Given the description of an element on the screen output the (x, y) to click on. 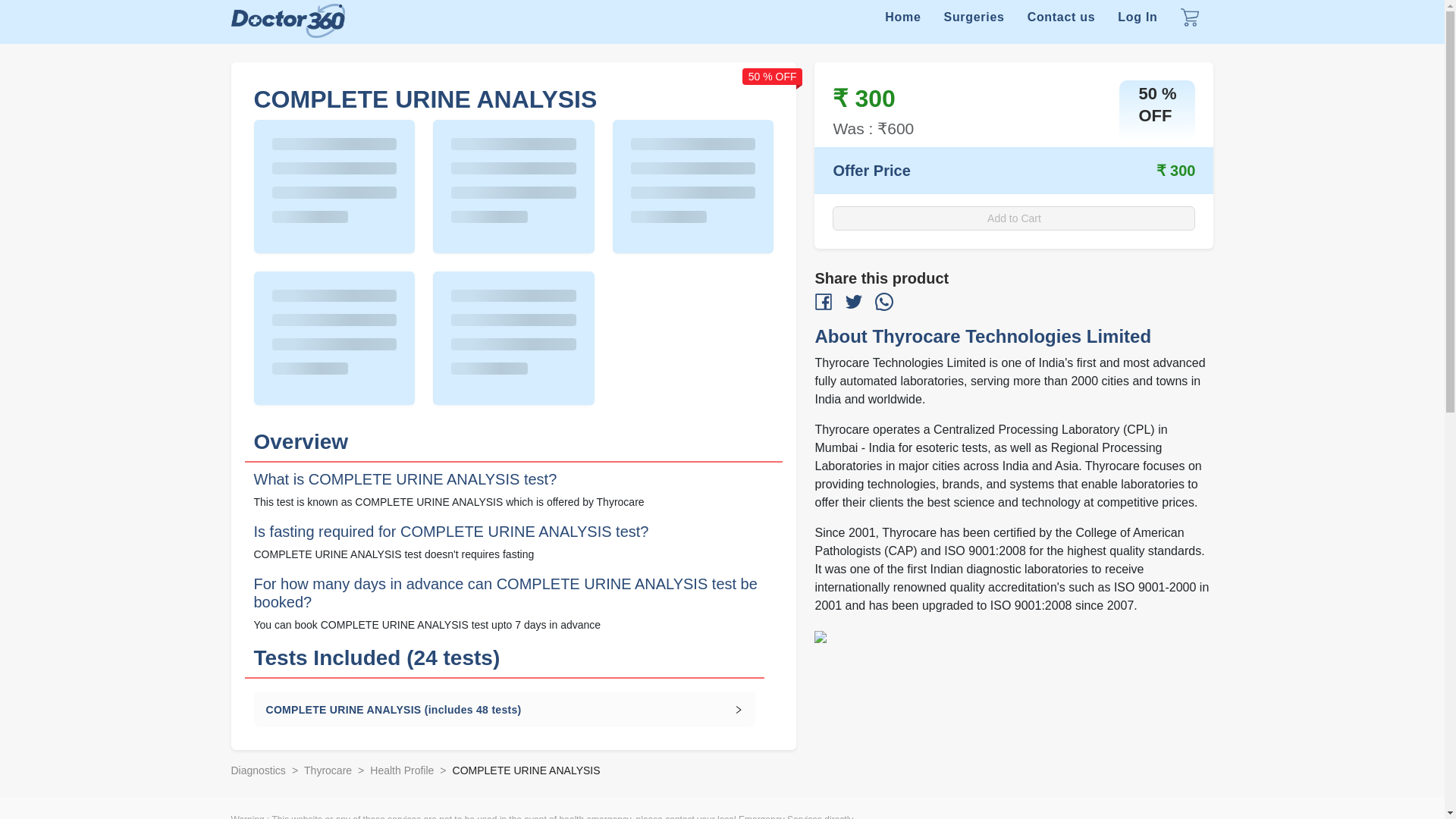
Add to Cart (1013, 218)
Contact us (1061, 19)
Diagnostics (257, 770)
Log In (1136, 19)
Surgeries (973, 19)
Health Profile (401, 770)
Home (902, 19)
Thyrocare (328, 770)
